Given the description of an element on the screen output the (x, y) to click on. 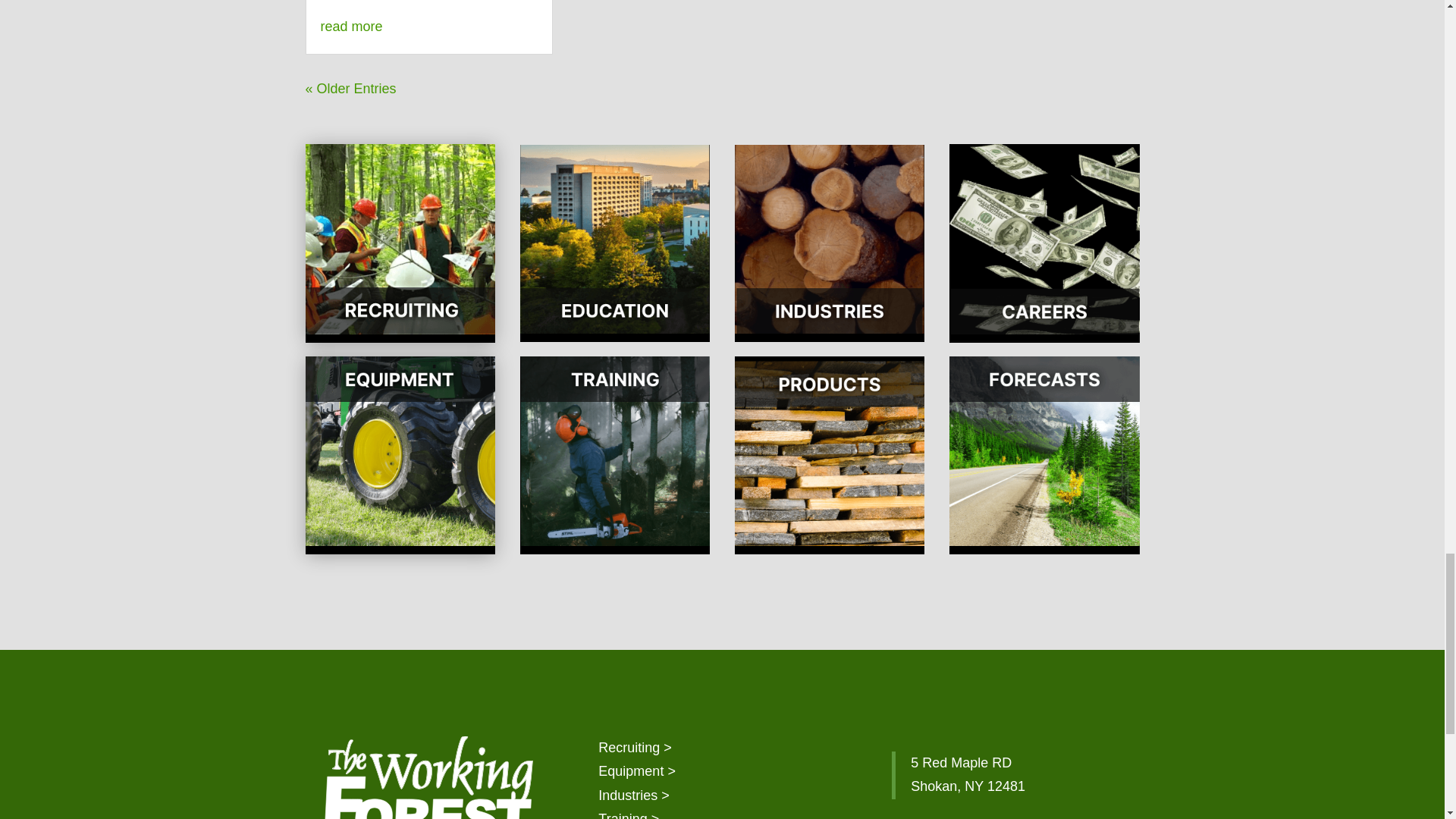
Recruiting Information (634, 747)
Industries (633, 795)
Training Information (628, 815)
Equipment Information (636, 770)
